Given the description of an element on the screen output the (x, y) to click on. 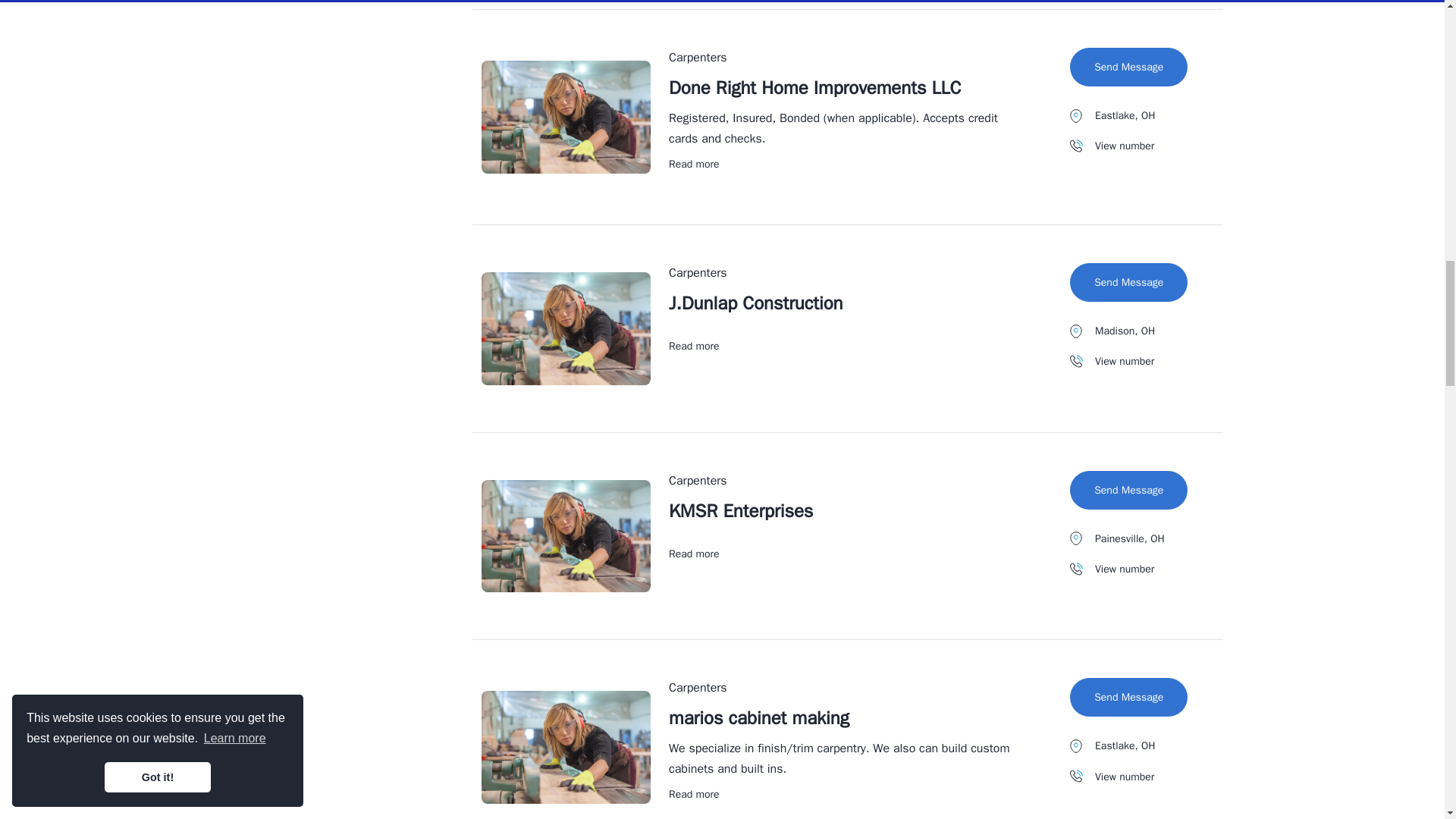
Learn more about KMSR Enterprises (740, 510)
Learn more about Done Right Home Improvements LLC (693, 164)
Learn more about Done Right Home Improvements LLC (814, 87)
Learn more about J.Dunlap Construction (755, 302)
Learn more about KMSR Enterprises (693, 553)
Learn more about J.Dunlap Construction (693, 345)
